Given the description of an element on the screen output the (x, y) to click on. 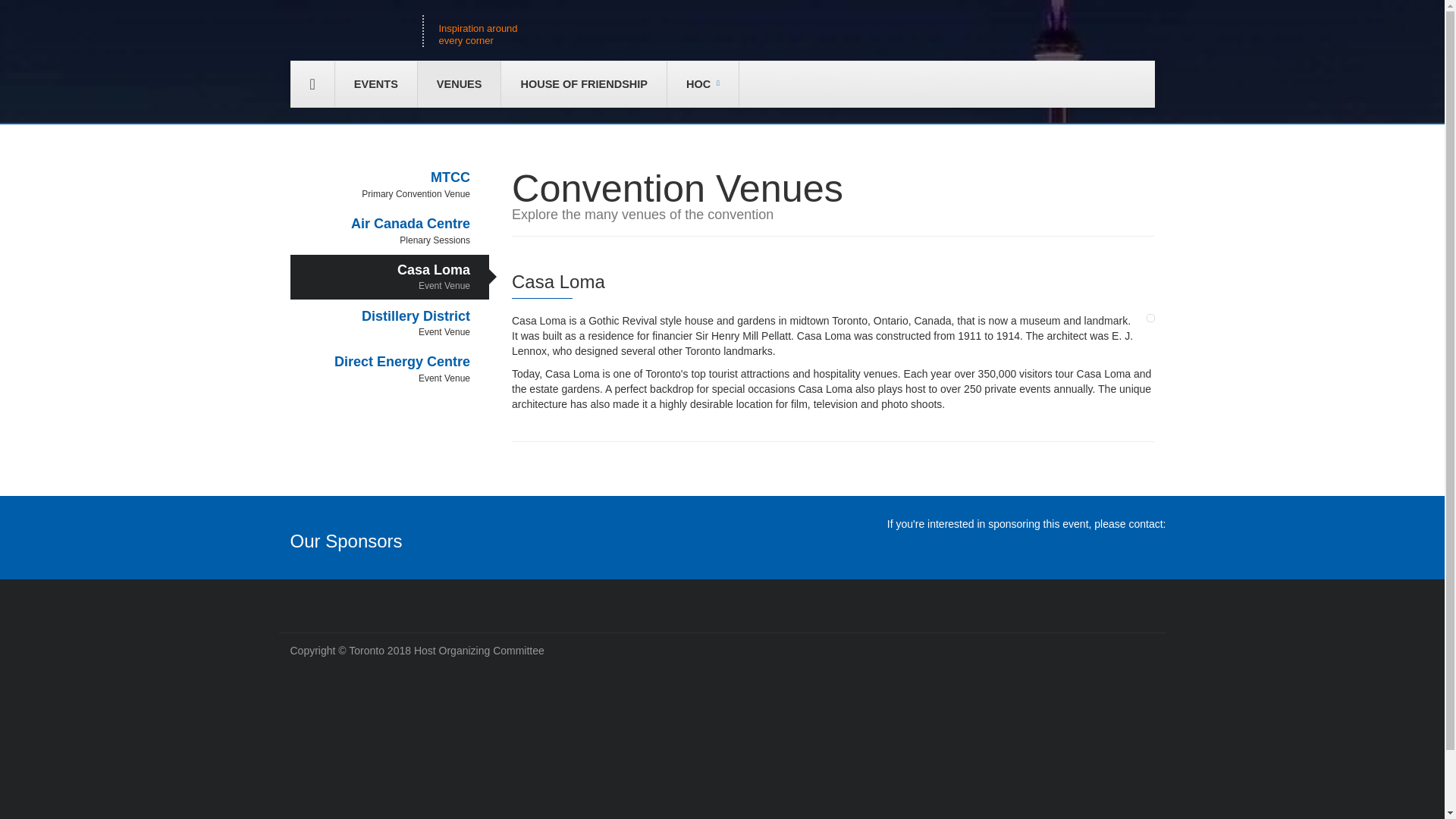
HOUSE OF FRIENDSHIP (389, 323)
VENUES (583, 84)
EVENTS (458, 84)
Home (375, 84)
HOC (389, 276)
